Given the description of an element on the screen output the (x, y) to click on. 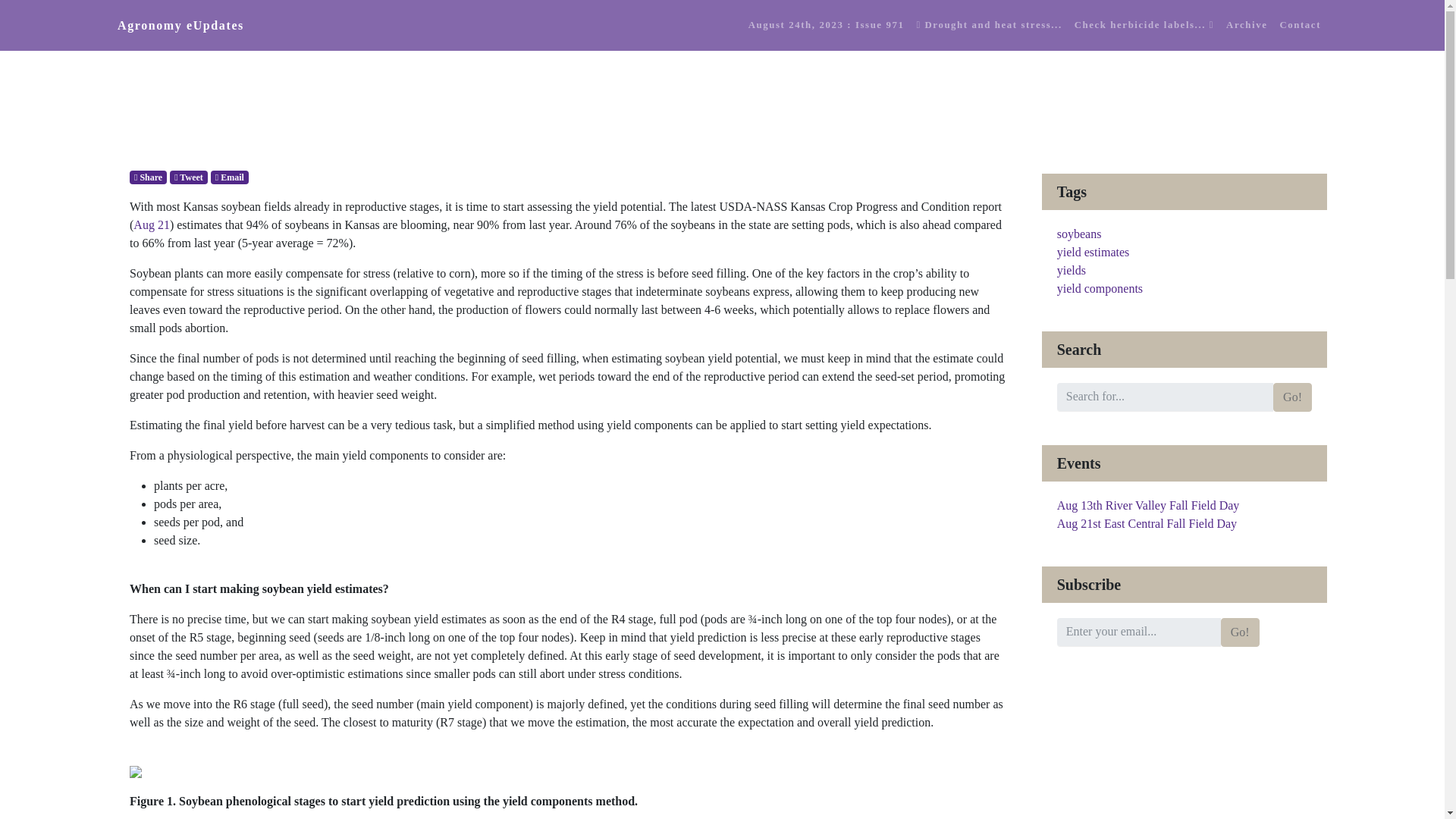
Aug 13th River Valley Fall Field Day (1148, 504)
 Drought and heat stress... (988, 25)
Aug 21 (151, 224)
yield estimates (1093, 251)
Check herbicide labels...  (1144, 25)
Aug 21st East Central Fall Field Day (1146, 522)
Go! (1291, 397)
soybeans (1079, 233)
Archive (1246, 25)
Share (148, 177)
Tweet (189, 177)
yields (1071, 269)
Agronomy eUpdates (180, 25)
August 24th, 2023 : Issue 971 (826, 25)
Email (229, 177)
